Given the description of an element on the screen output the (x, y) to click on. 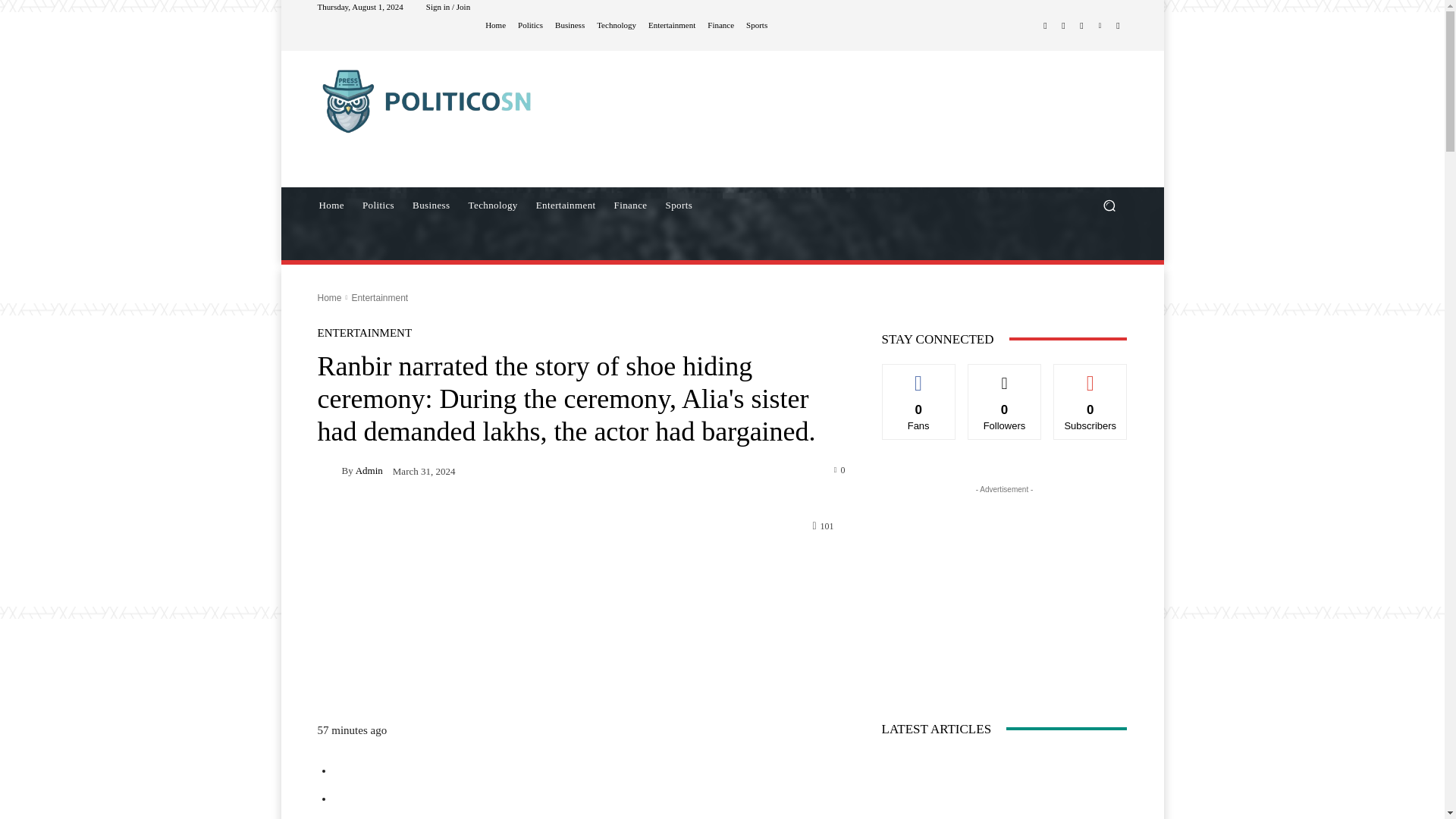
Youtube (1117, 25)
Instagram (1062, 25)
Home (494, 25)
Entertainment (566, 205)
Technology (493, 205)
View all posts in Entertainment (378, 297)
Home (330, 205)
Entertainment (671, 25)
Politics (530, 25)
Facebook (1044, 25)
Sports (678, 205)
admin (328, 469)
Vimeo (1099, 25)
Politics (378, 205)
Technology (616, 25)
